Given the description of an element on the screen output the (x, y) to click on. 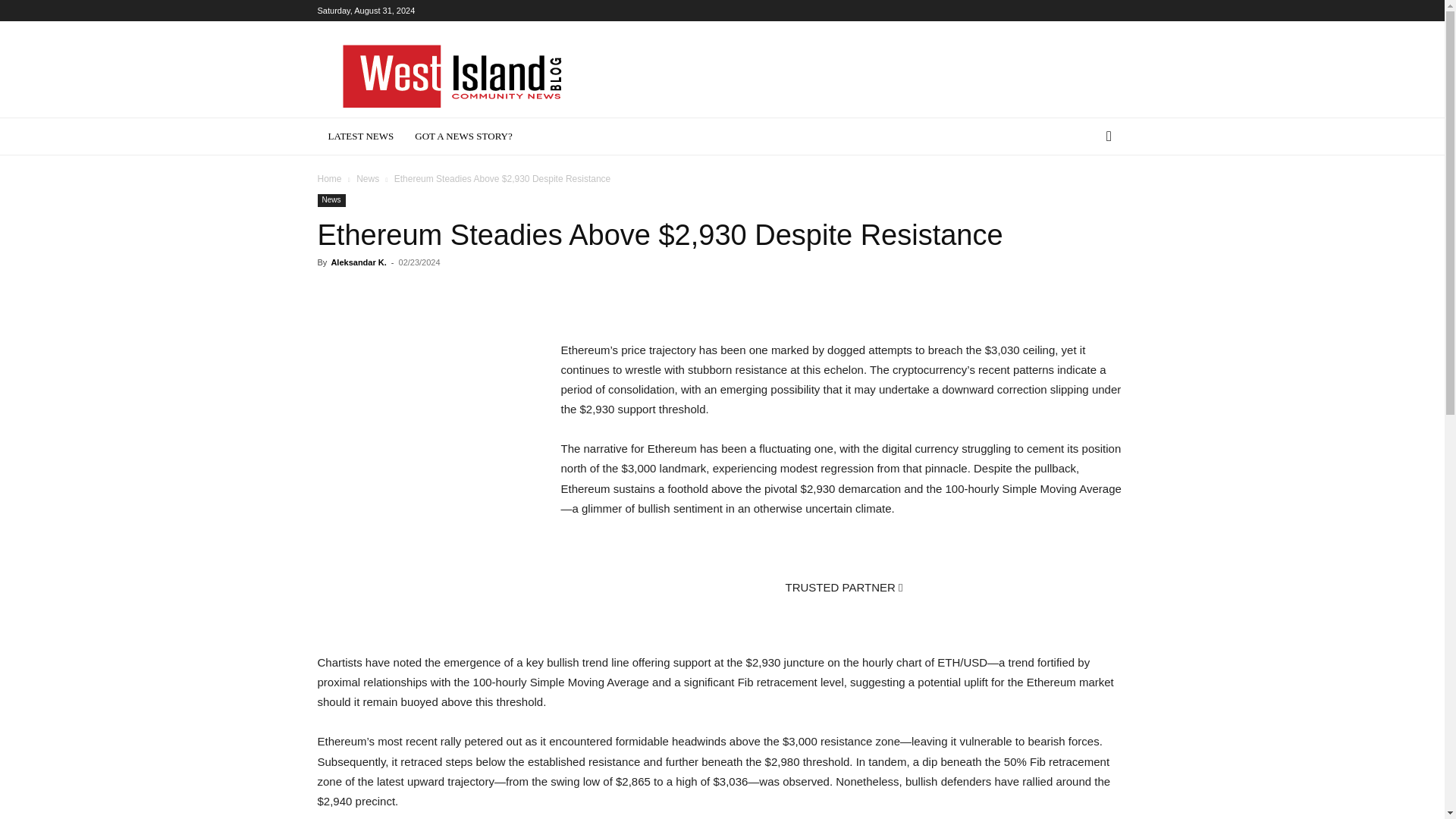
Search (1085, 197)
Home (328, 178)
News (331, 200)
GOT A NEWS STORY? (463, 135)
View all posts in News (367, 178)
Bitcoin Casino - Official Website (721, 615)
Aleksandar K. (357, 261)
News (367, 178)
LATEST NEWS (360, 135)
West Island Blog (450, 76)
